Given the description of an element on the screen output the (x, y) to click on. 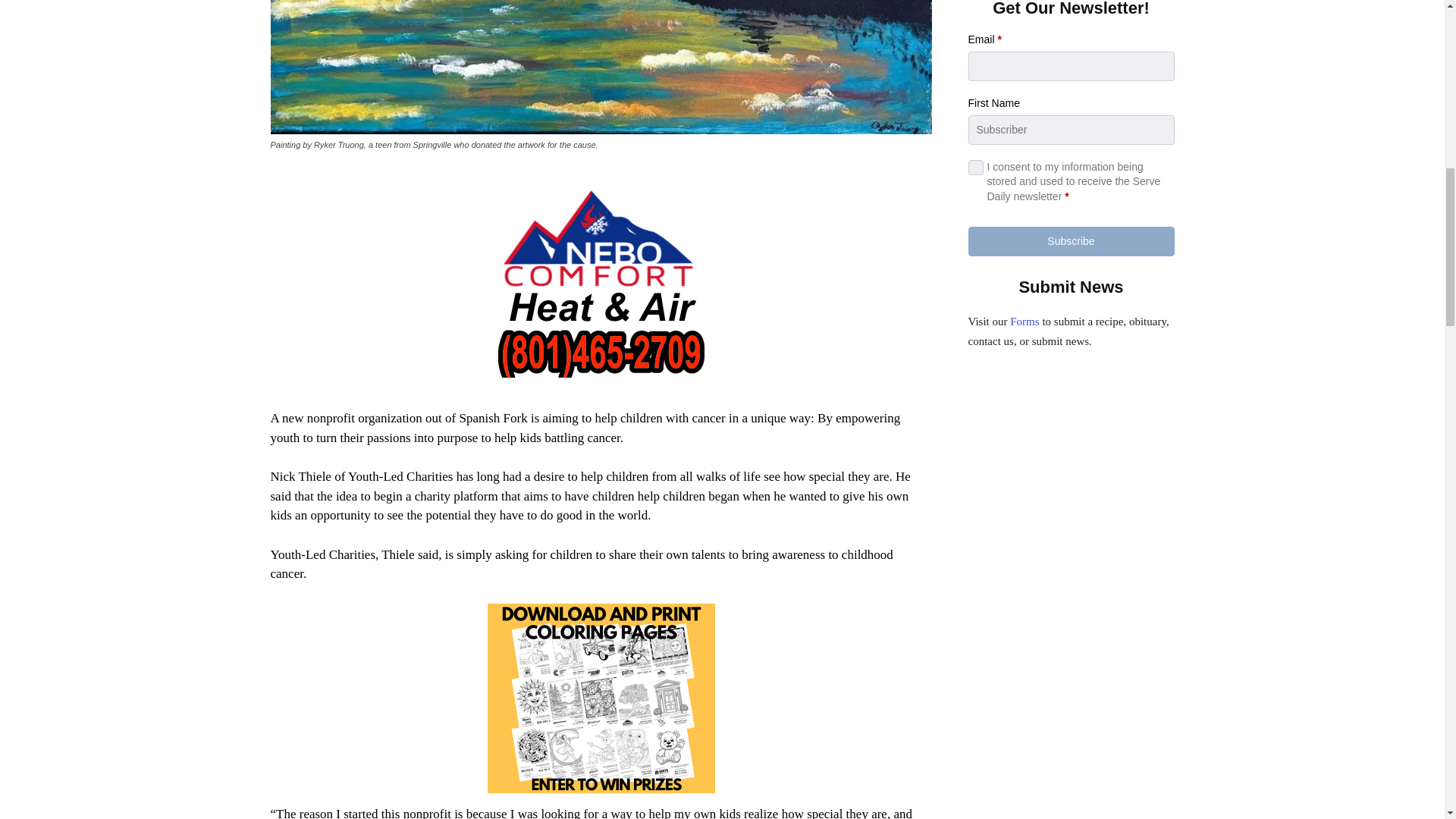
Subscriber (1070, 129)
